Given the description of an element on the screen output the (x, y) to click on. 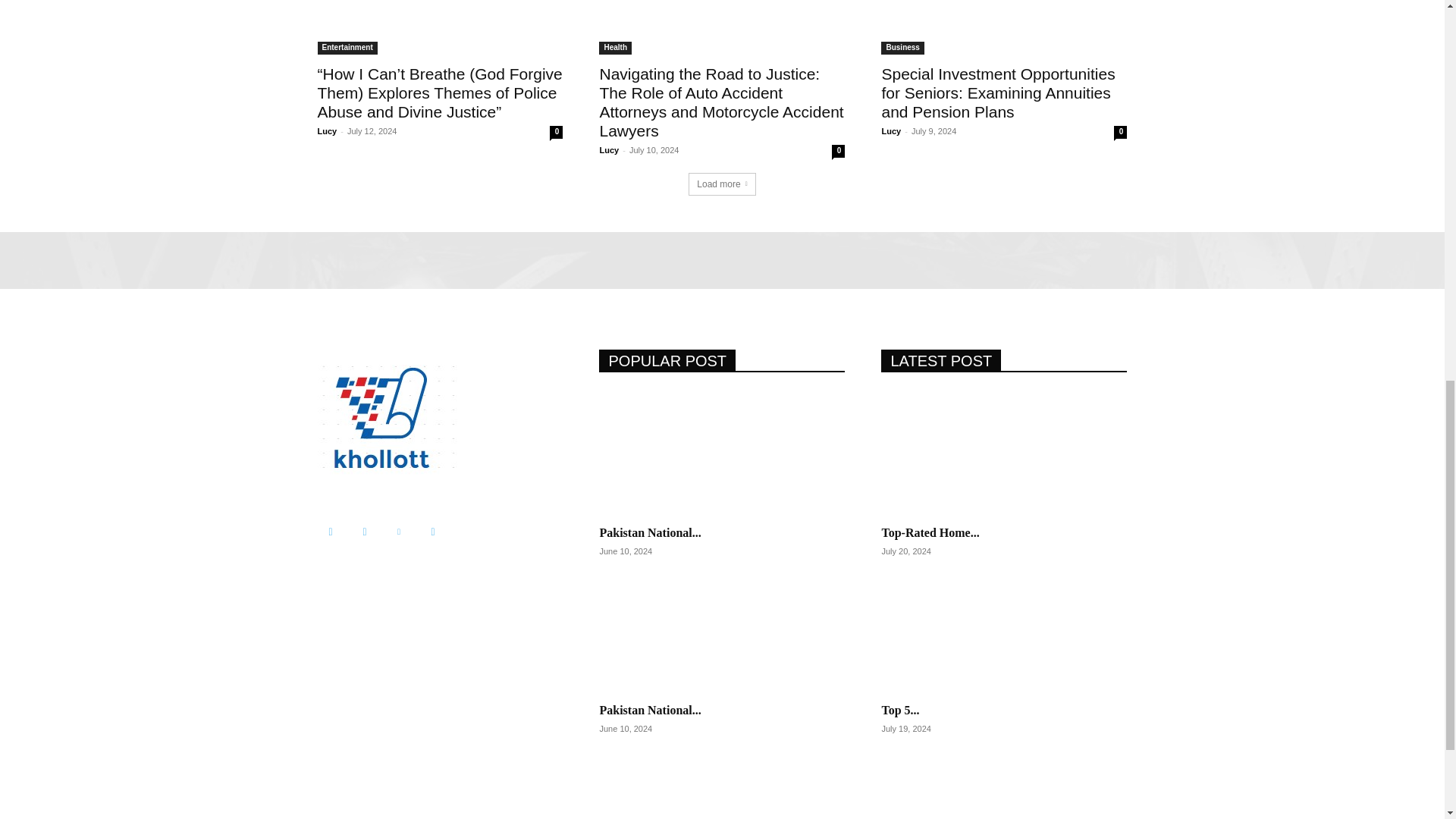
Entertainment (347, 47)
